Given the description of an element on the screen output the (x, y) to click on. 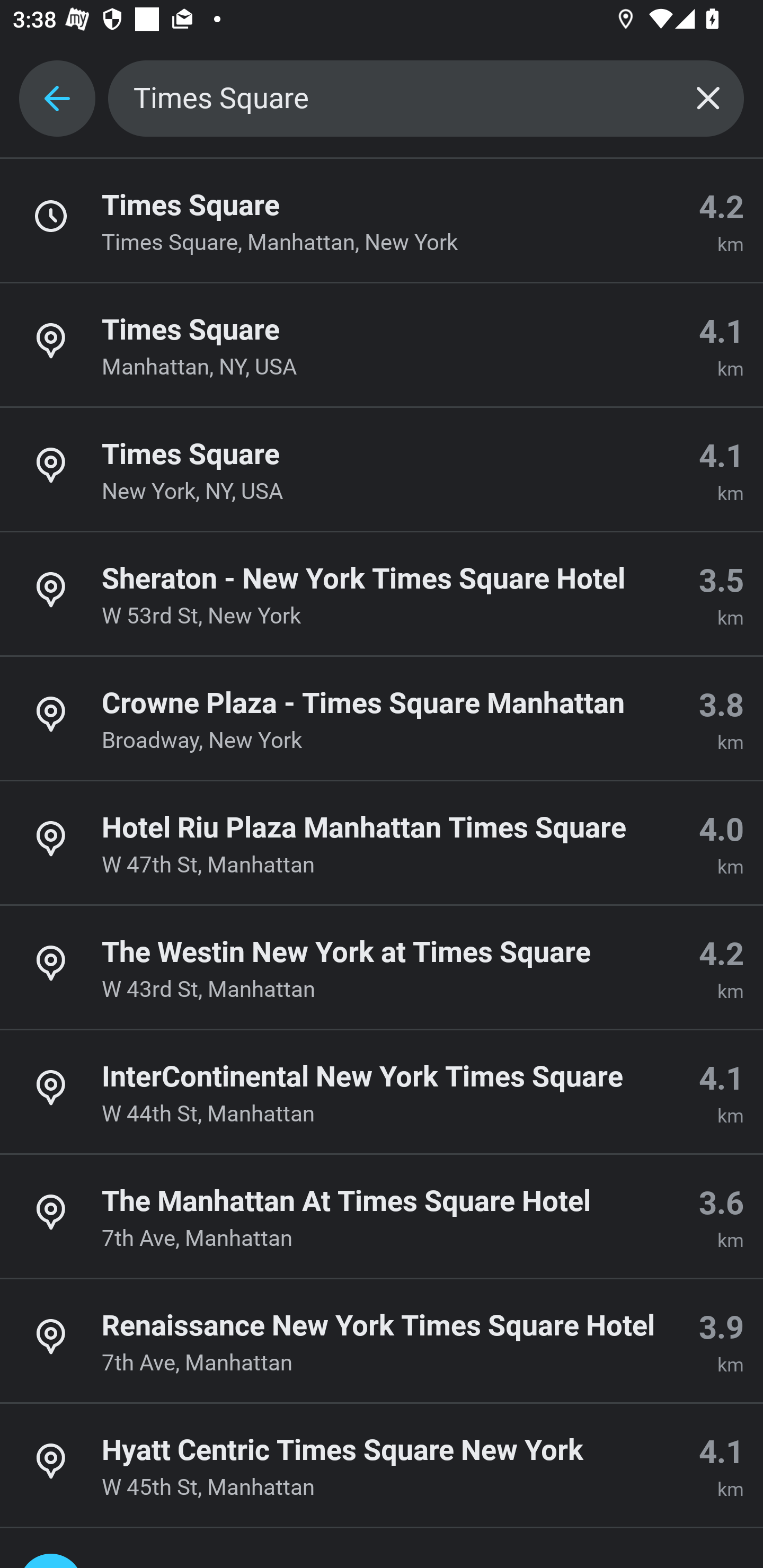
Times Square sideMenuSearchBox (425, 98)
Times Square Manhattan, NY, USA 4.1 km (381, 345)
Times Square New York, NY, USA 4.1 km (381, 470)
